Given the description of an element on the screen output the (x, y) to click on. 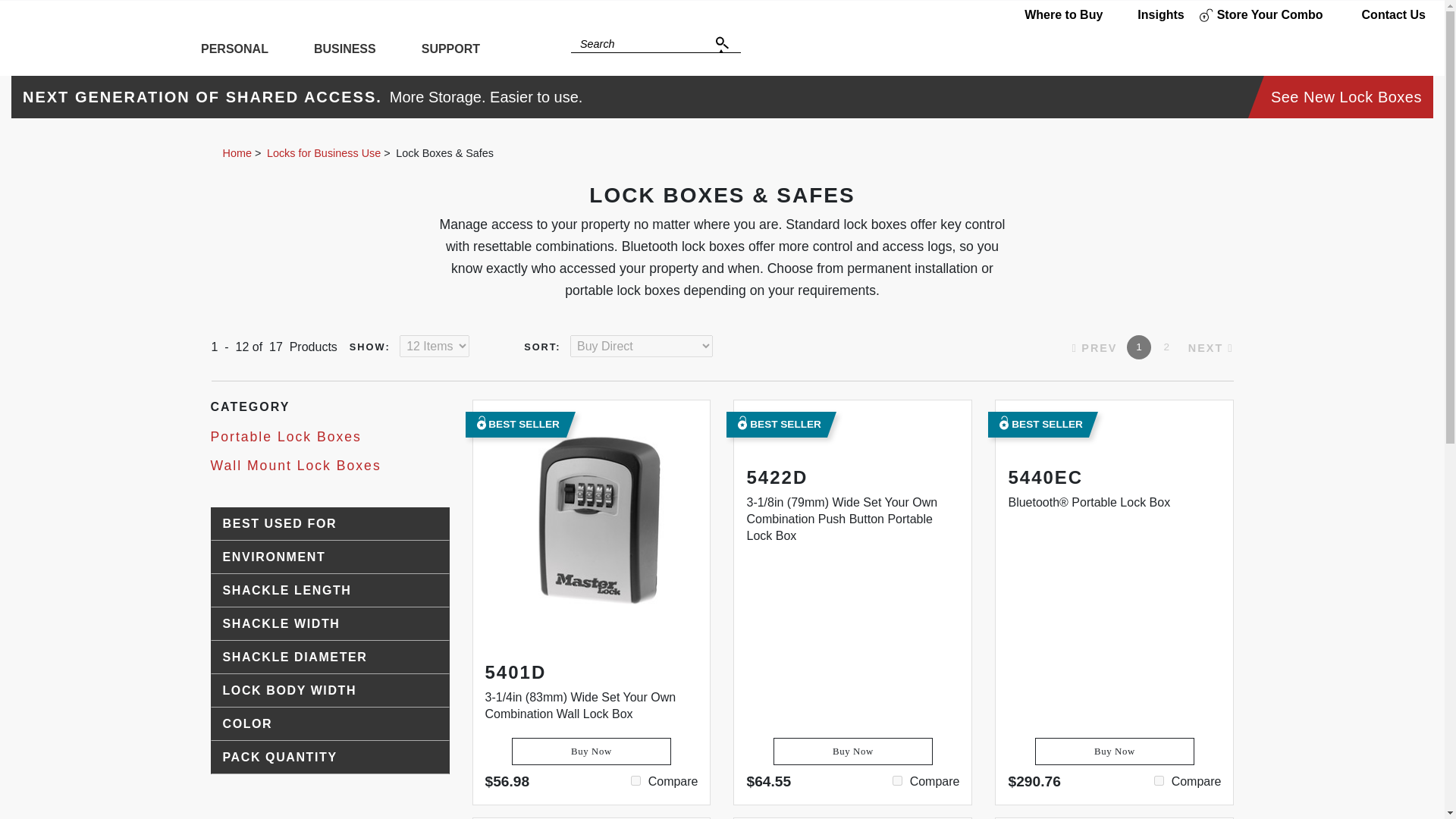
Insights (1150, 15)
5401D (635, 780)
5440EC (1158, 780)
PERSONAL (234, 51)
Where to Buy (1050, 15)
5422D (897, 780)
Search (723, 43)
Contact Us (1381, 15)
Store Your Combo (1261, 15)
